Given the description of an element on the screen output the (x, y) to click on. 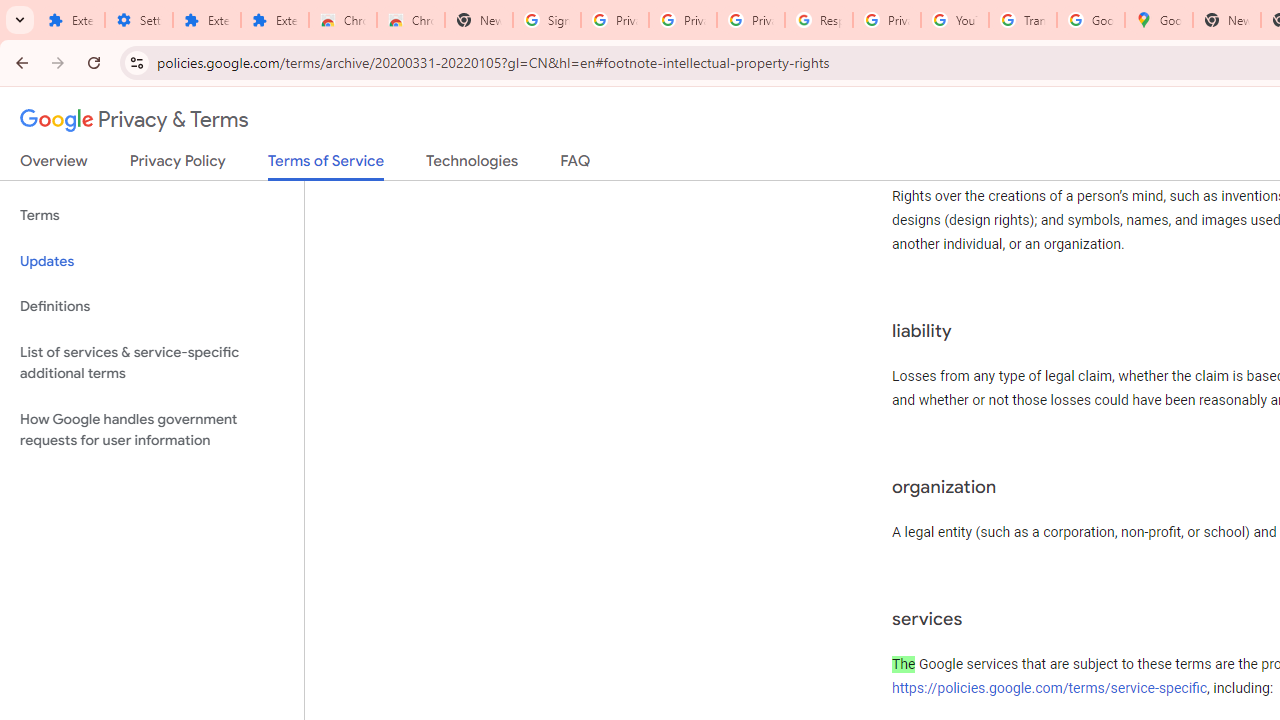
New Tab (479, 20)
New Tab (1226, 20)
Sign in - Google Accounts (547, 20)
Chrome Web Store (342, 20)
